Given the description of an element on the screen output the (x, y) to click on. 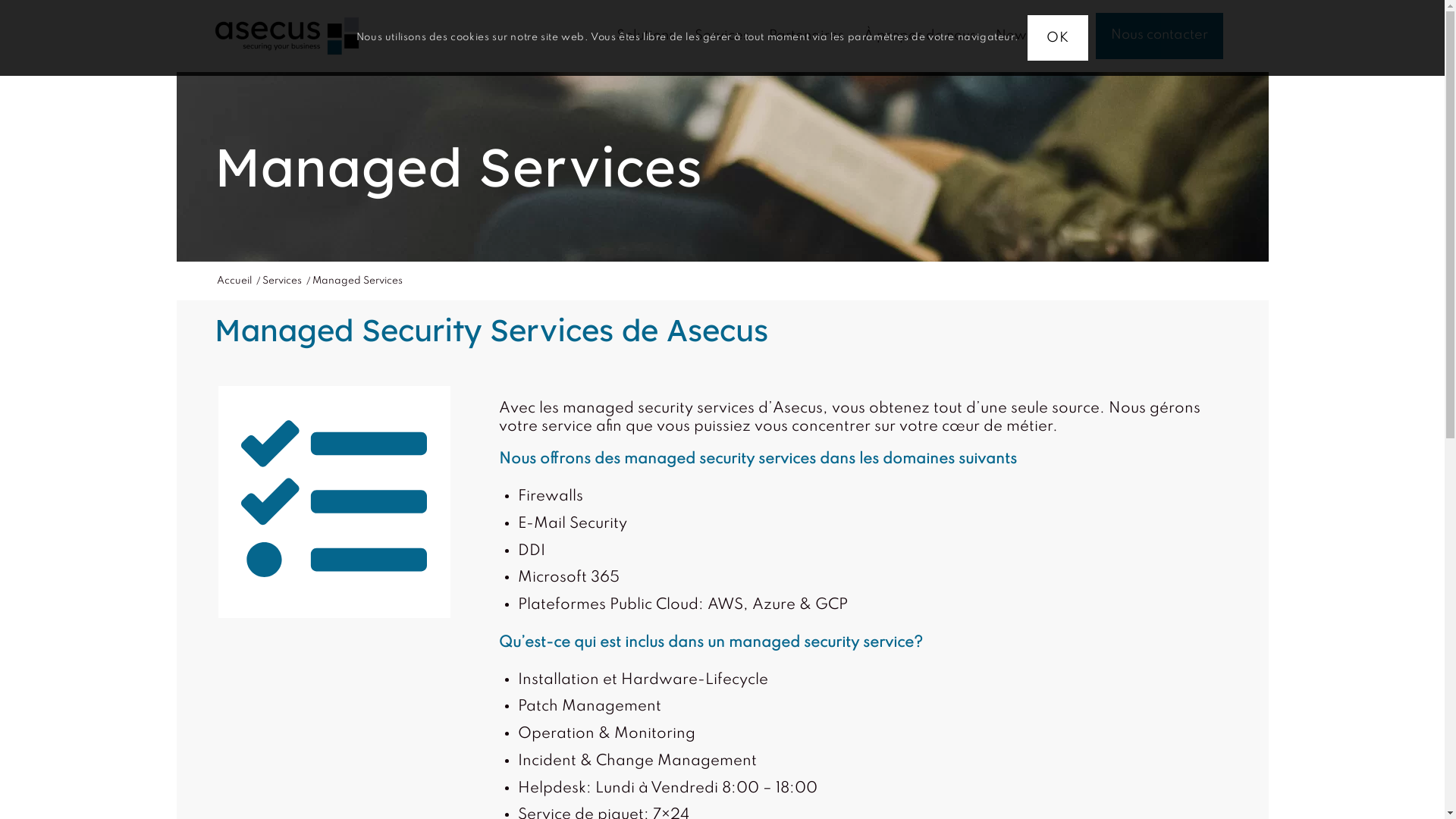
OK Element type: text (1057, 37)
Services Element type: text (281, 280)
FR Element type: text (1064, 35)
Nous contacter Element type: text (1158, 35)
Services Element type: text (721, 35)
News Element type: text (1013, 35)
Partenaires Element type: text (805, 35)
Accueil Element type: text (233, 280)
Solutions Element type: text (645, 35)
